Given the description of an element on the screen output the (x, y) to click on. 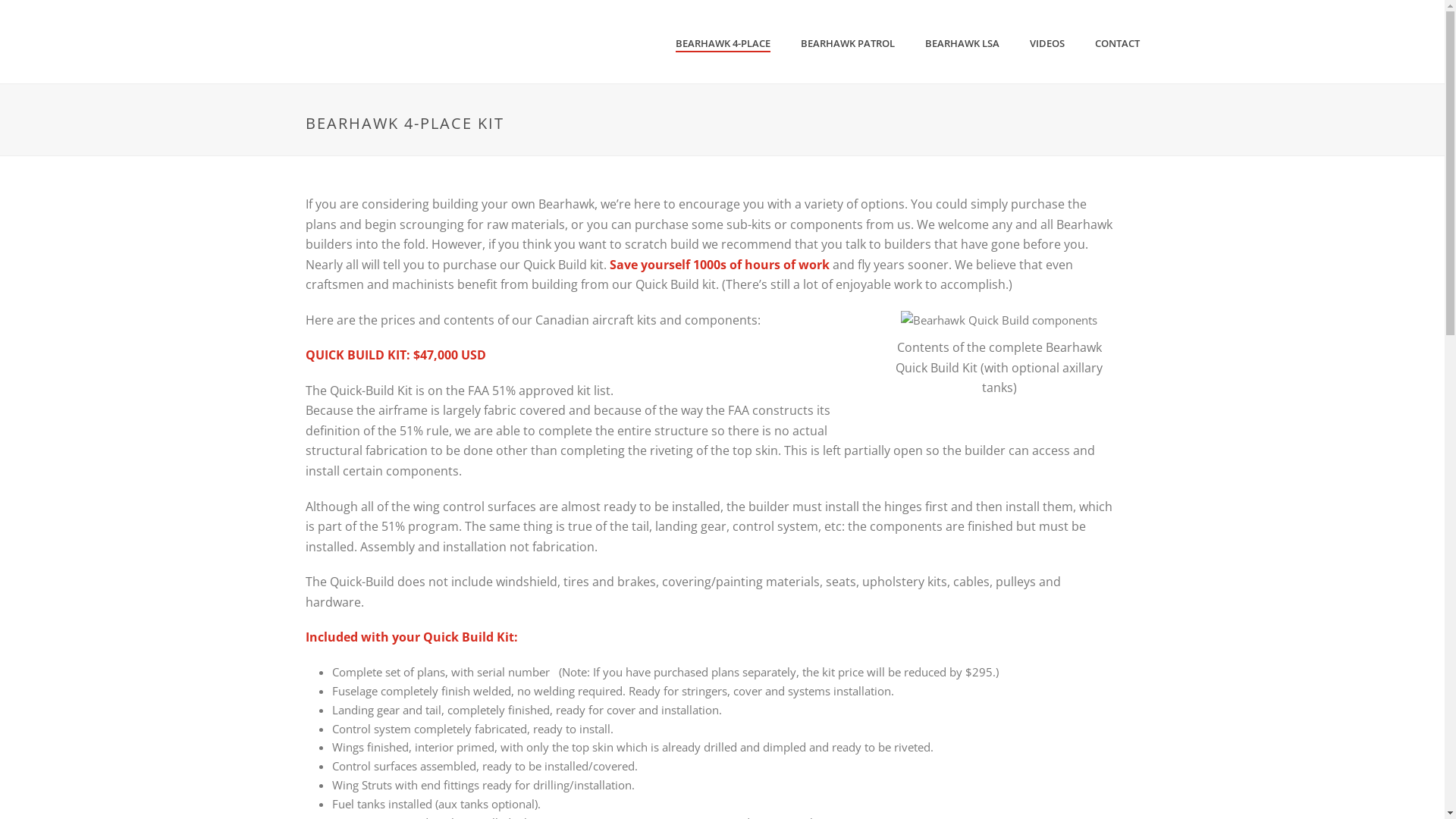
BEARHAWK PATROL Element type: text (847, 43)
BEARHAWK 4-PLACE Element type: text (721, 43)
CONTACT Element type: text (1116, 43)
BEARHAWK LSA Element type: text (962, 43)
VIDEOS Element type: text (1046, 43)
